Given the description of an element on the screen output the (x, y) to click on. 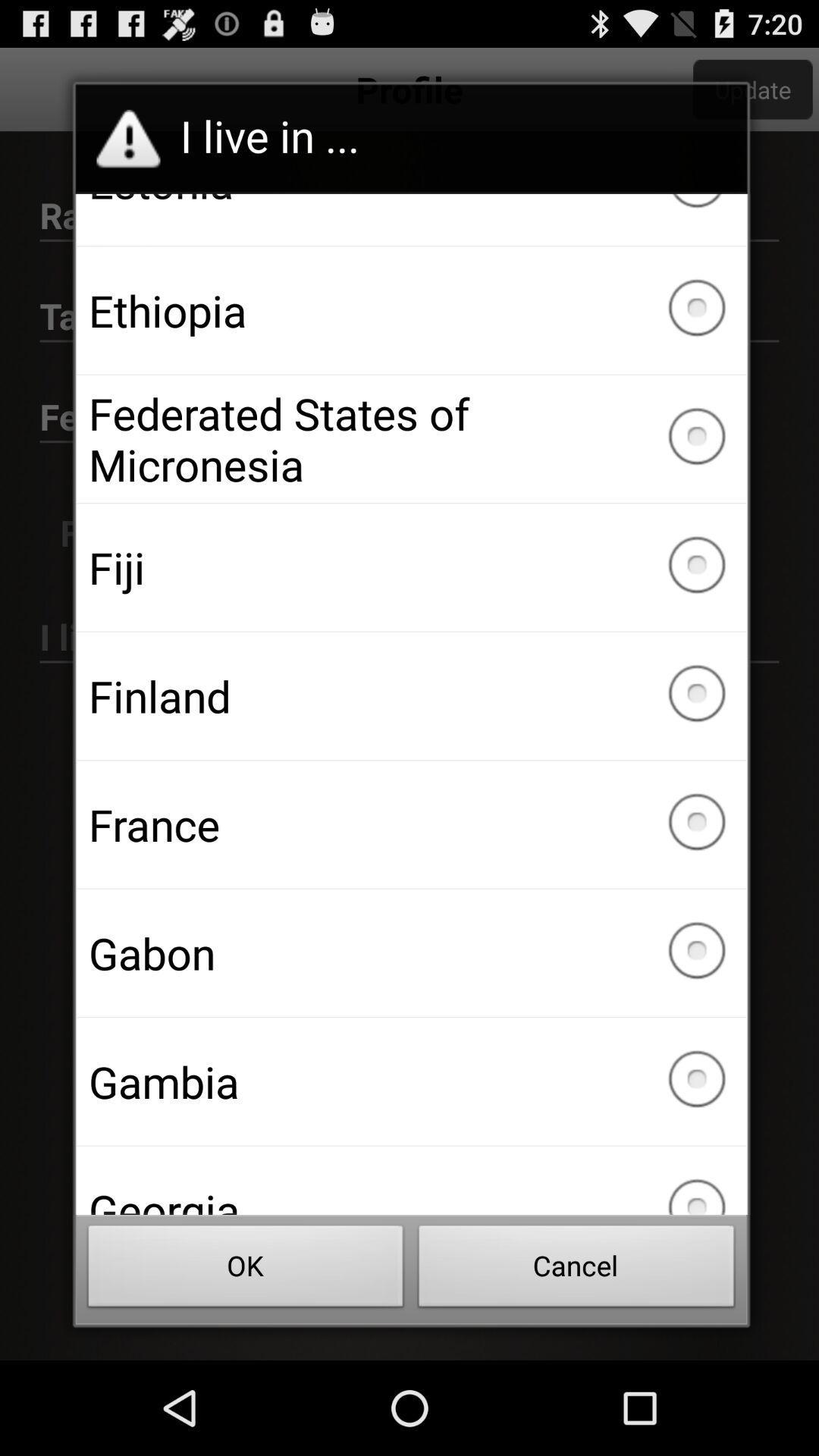
turn on ok button (245, 1270)
